Given the description of an element on the screen output the (x, y) to click on. 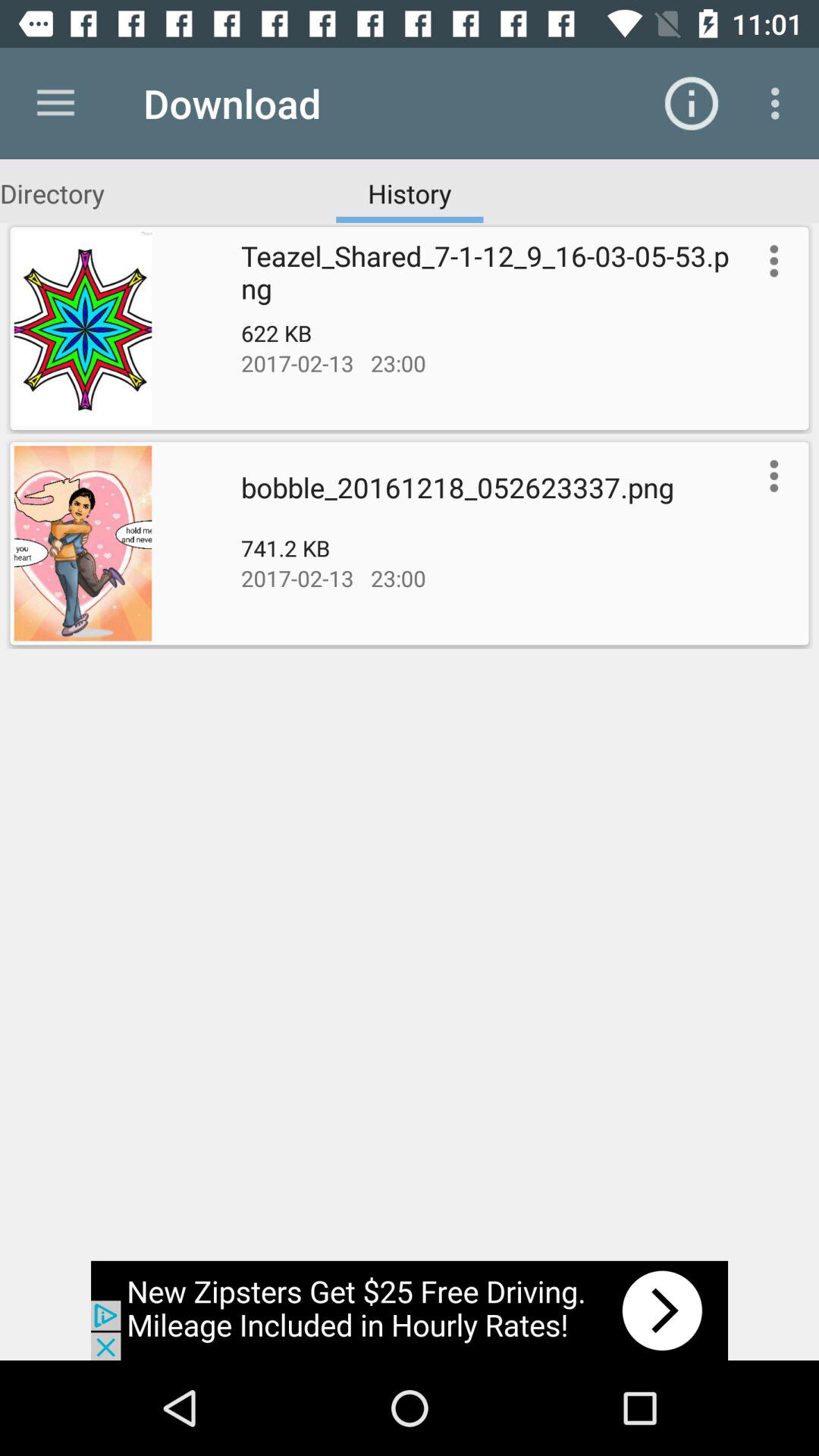
more option button (770, 260)
